Given the description of an element on the screen output the (x, y) to click on. 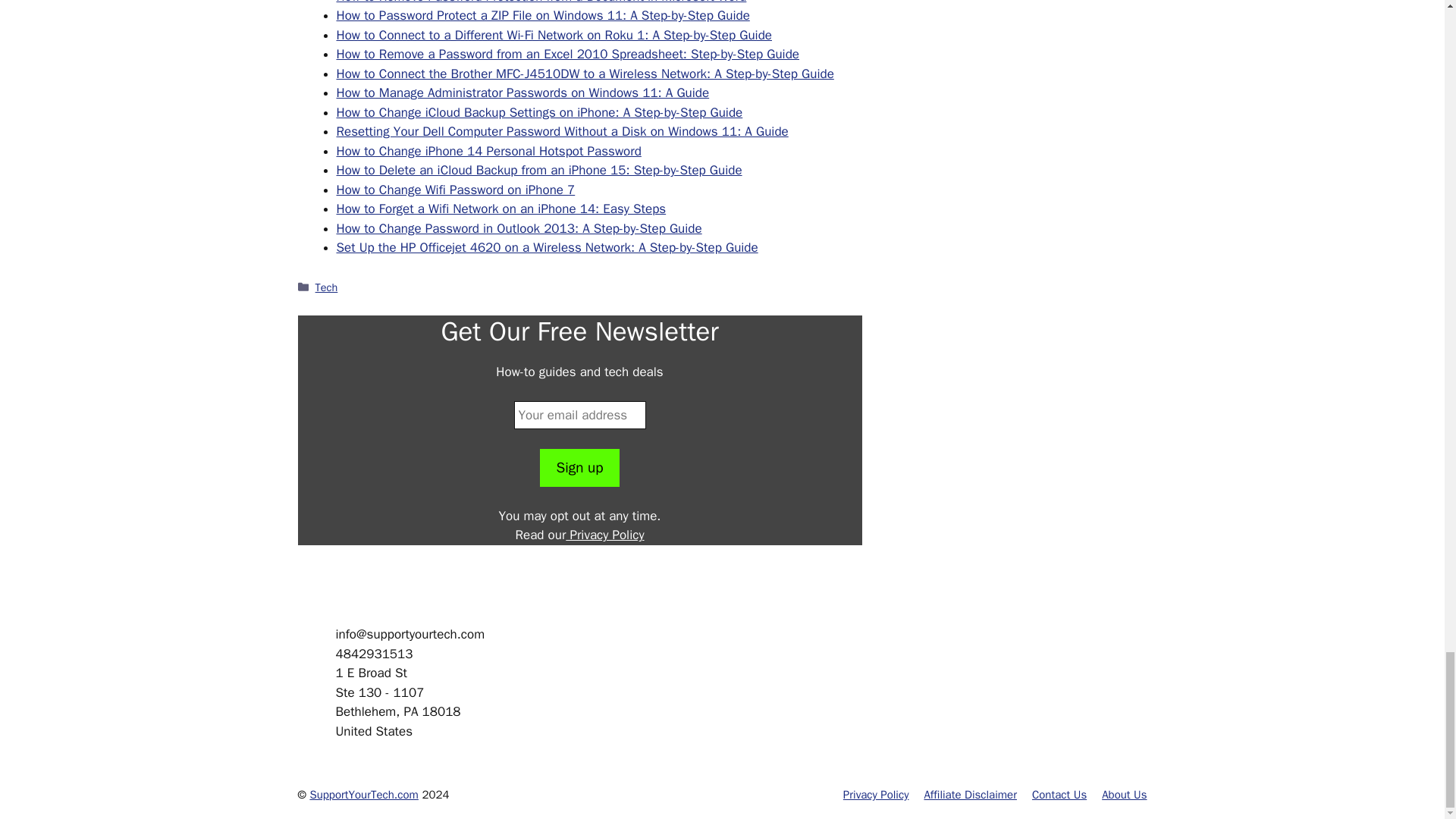
How to Change Password in Outlook 2013: A Step-by-Step Guide (518, 228)
How to Manage Administrator Passwords on Windows 11: A Guide (523, 92)
How to Forget a Wifi Network on an iPhone 14: Easy Steps (501, 208)
Sign up (579, 467)
